Given the description of an element on the screen output the (x, y) to click on. 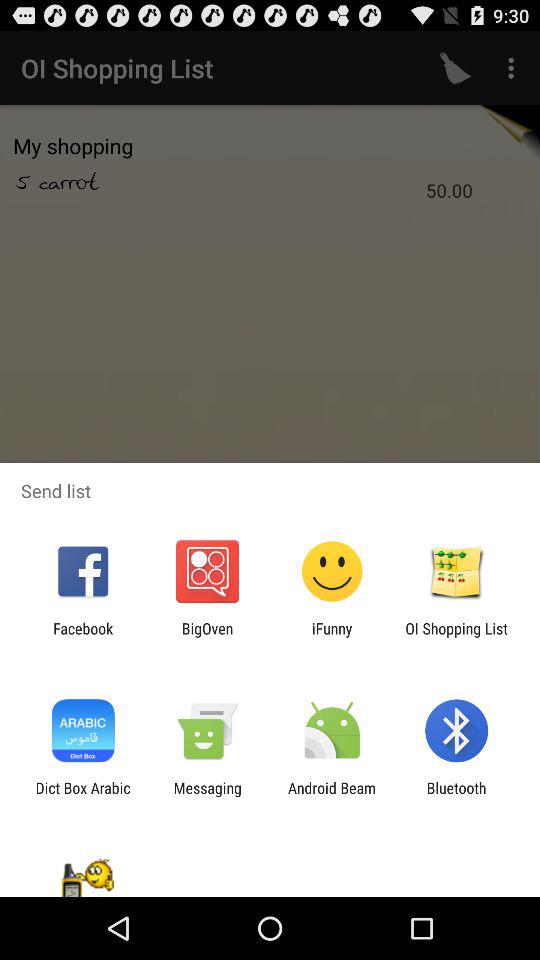
select app next to ifunny item (456, 637)
